Given the description of an element on the screen output the (x, y) to click on. 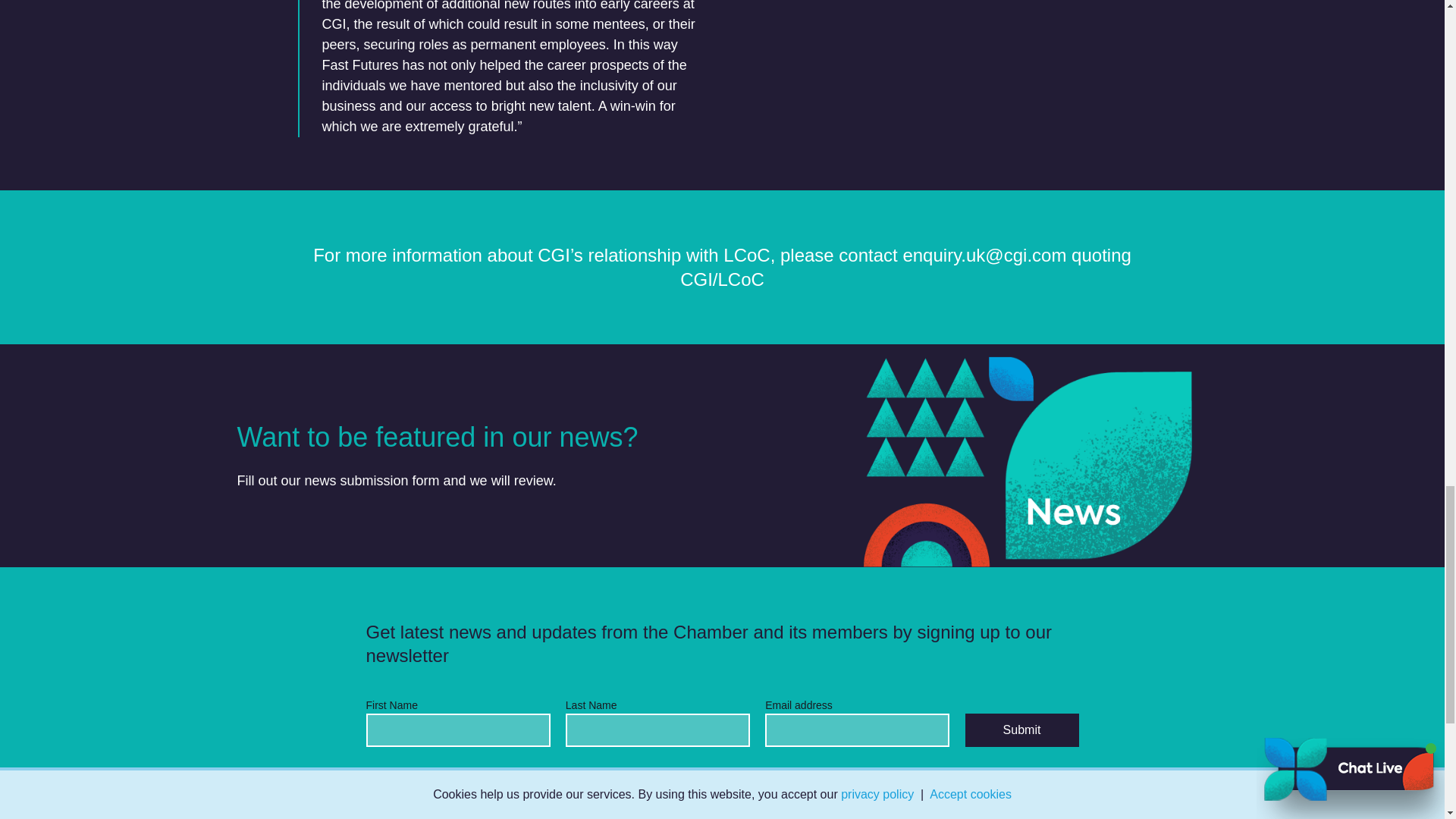
Submit (1020, 729)
